Given the description of an element on the screen output the (x, y) to click on. 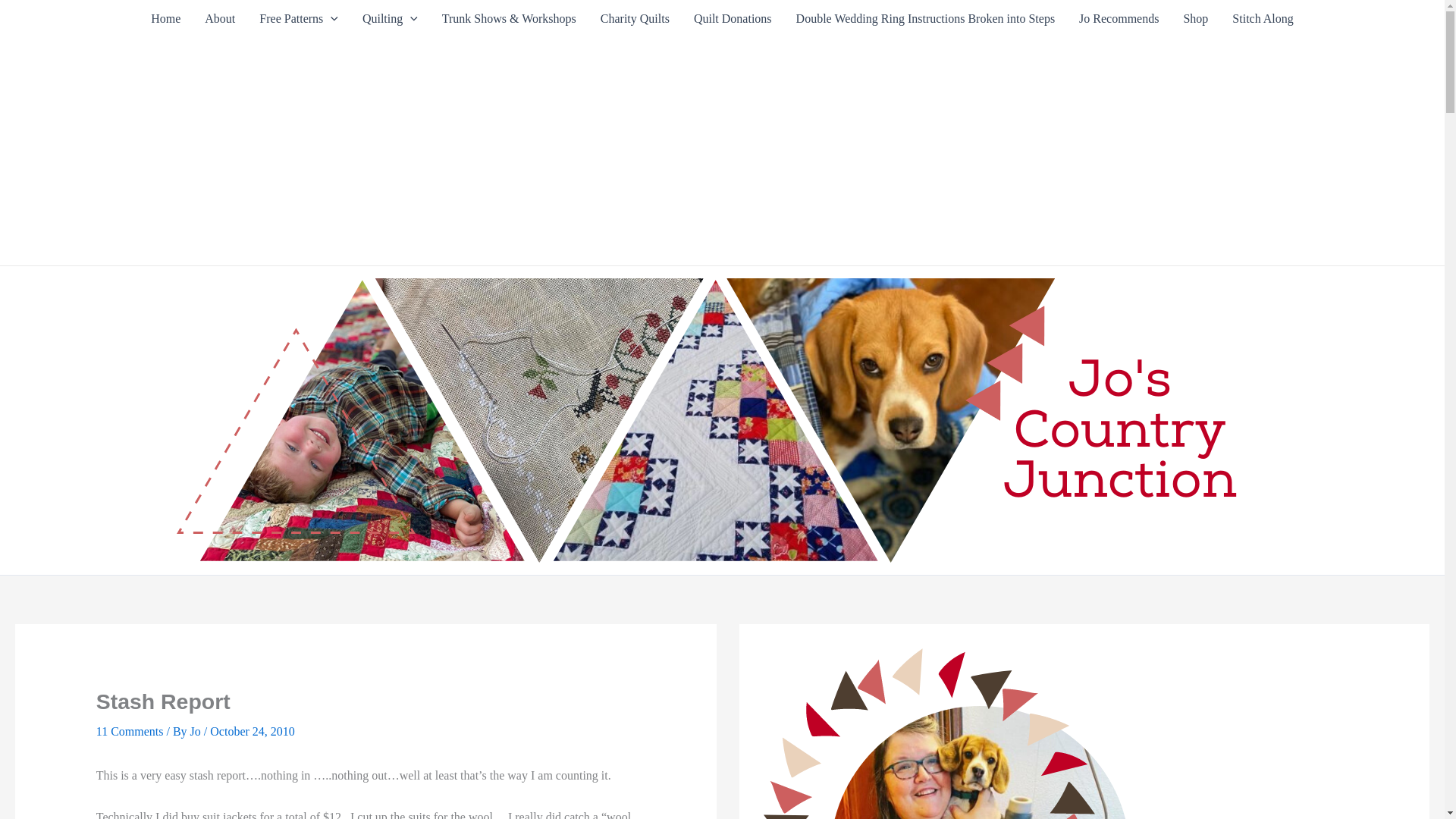
About (219, 18)
Charity Quilts (634, 18)
Quilts of 2012 (389, 18)
Quilting (389, 18)
Free Patterns (298, 18)
Home (165, 18)
View all posts by Jo (196, 730)
Quilt Donations (732, 18)
